Given the description of an element on the screen output the (x, y) to click on. 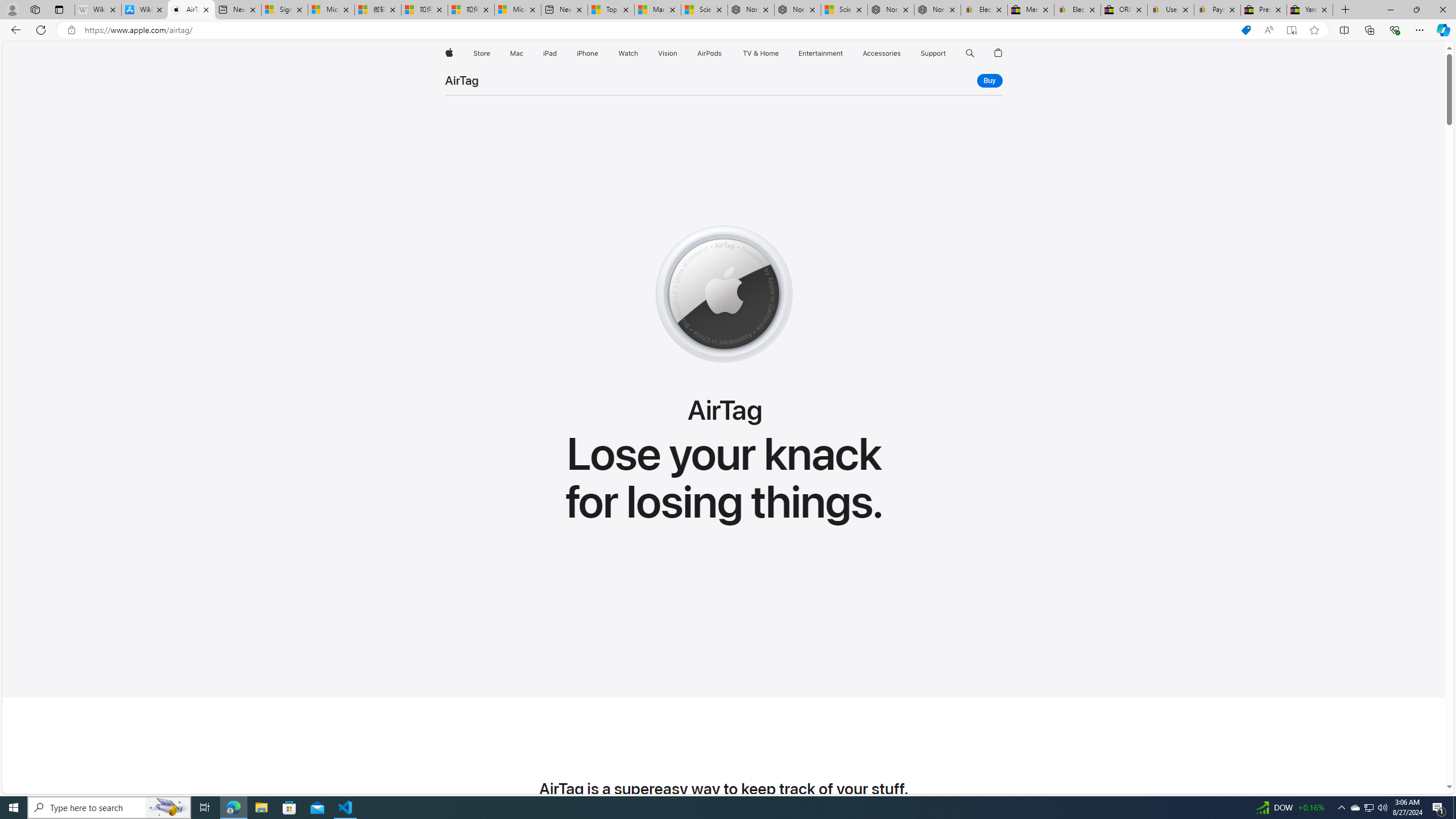
Shopping Bag (998, 53)
iPad (550, 53)
Watch menu (640, 53)
Press Room - eBay Inc. (1263, 9)
Support (932, 53)
Entertainment menu (844, 53)
AirPods (709, 53)
TV and Home (759, 53)
Vision (667, 53)
Wikipedia - Sleeping (97, 9)
Entertainment (820, 53)
